Given the description of an element on the screen output the (x, y) to click on. 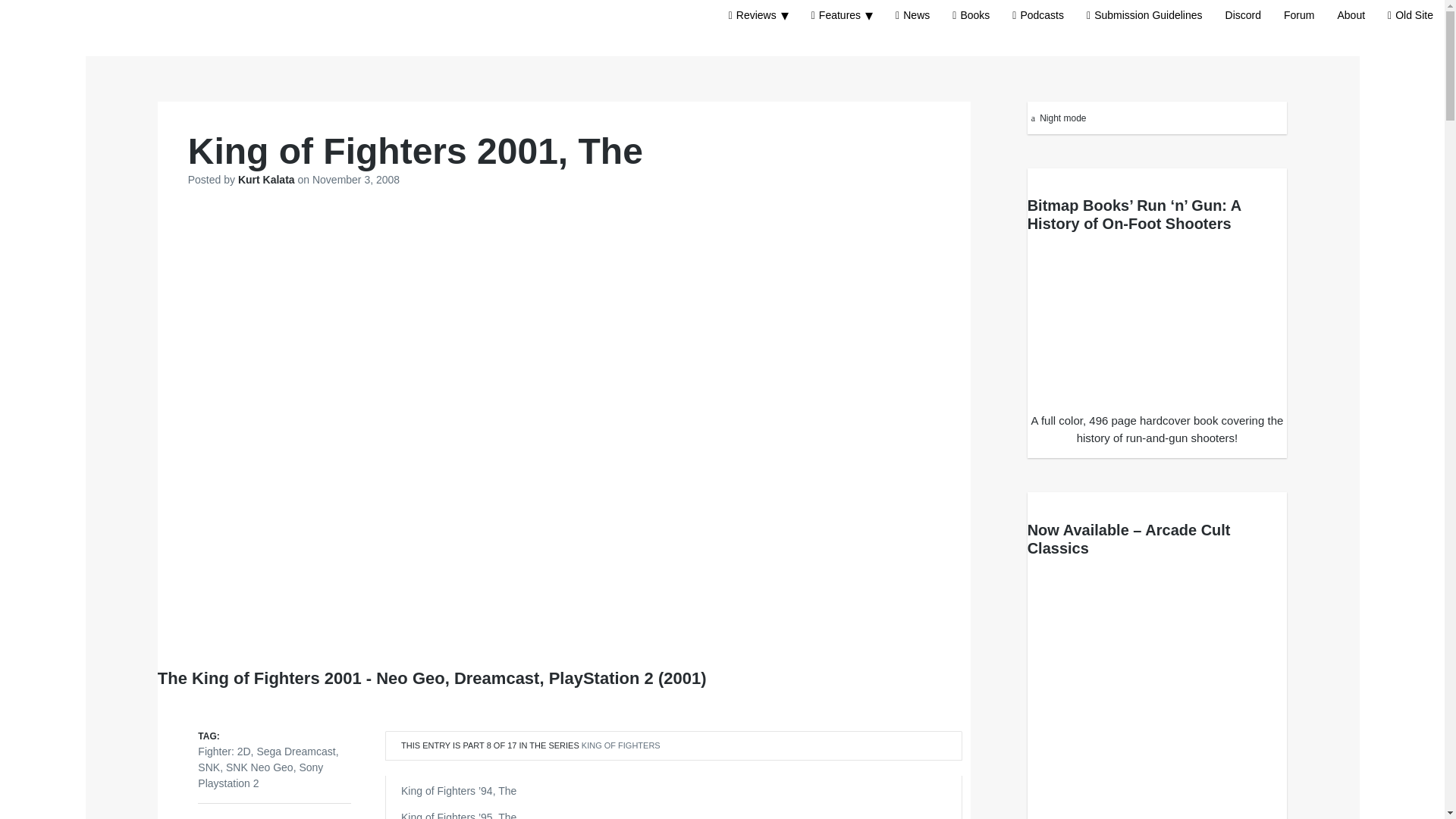
KING OF FIGHTERS (620, 745)
Kurt Kalata (268, 179)
King of Fighters (620, 745)
